Given the description of an element on the screen output the (x, y) to click on. 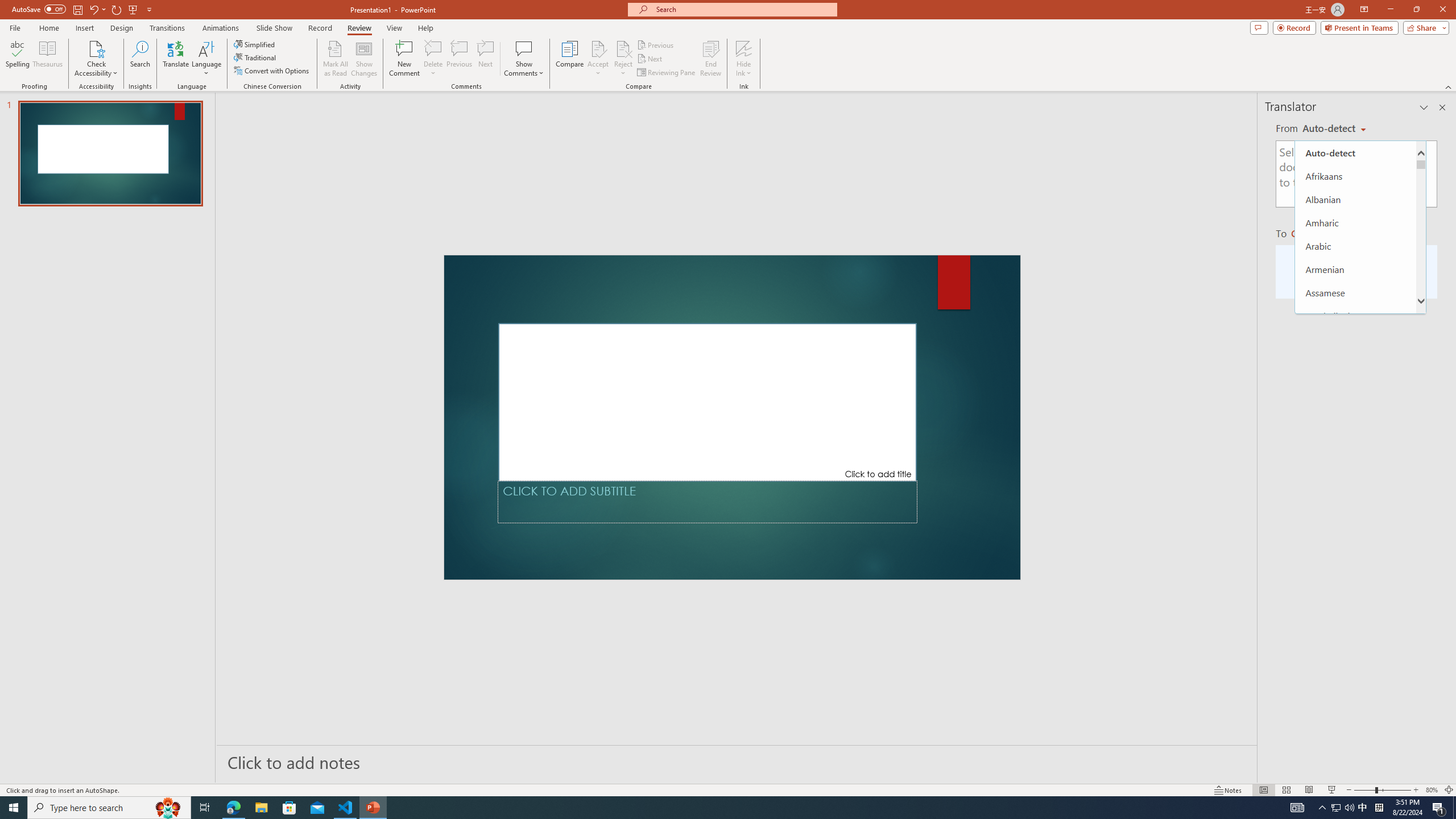
Zoom 80% (1431, 790)
Accept Change (598, 48)
Compare (569, 58)
Bodo (1355, 431)
Chinese Traditional (1355, 617)
Reject (622, 58)
Danish (1355, 688)
Bosnian (1355, 455)
Show Comments (524, 48)
